Given the description of an element on the screen output the (x, y) to click on. 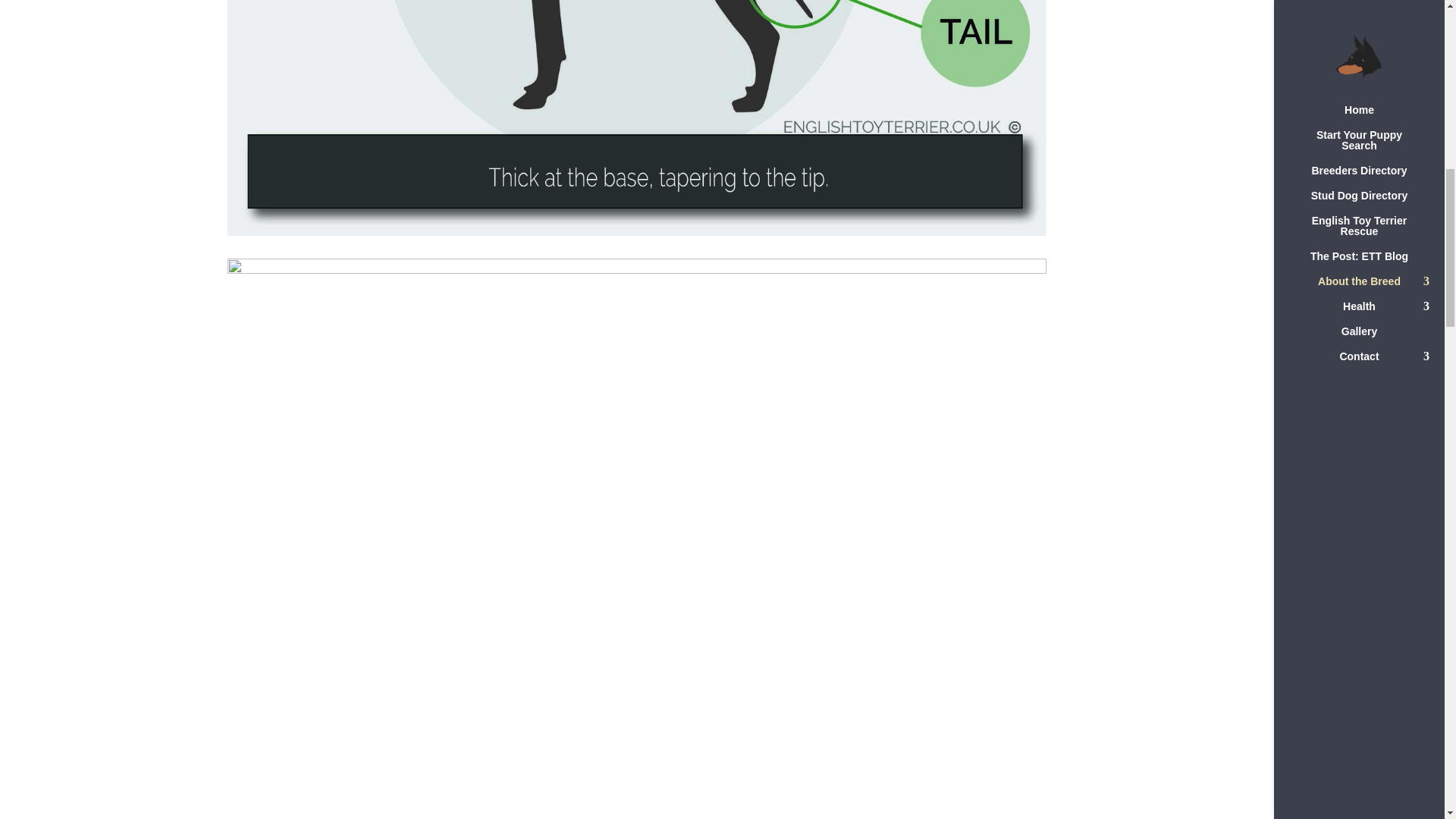
english-toy-terrier-breed-standard-tail2 (636, 232)
english-toy-terrier-breed-standard-thumbprints (636, 269)
